Given the description of an element on the screen output the (x, y) to click on. 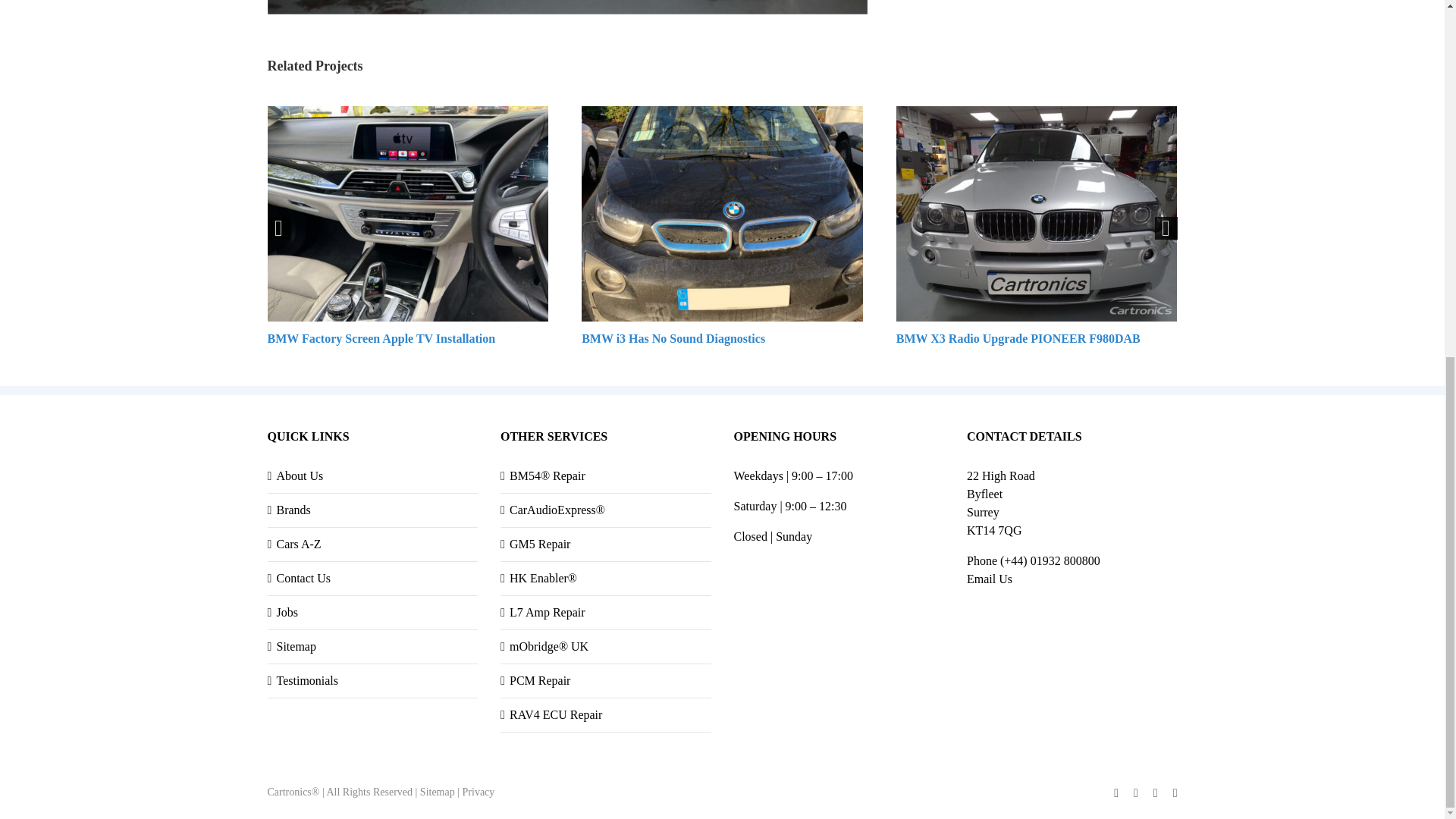
Facebook (1115, 793)
BMW i3 Has No Sound Diagnostics (672, 338)
BMW X3 Radio Upgrade PIONEER F980DAB (1018, 338)
YouTube (1155, 793)
BMW Factory Screen Apple TV Installation (380, 338)
X (1136, 793)
BMW E70 Angel Eyes Upgrade (566, 7)
